Given the description of an element on the screen output the (x, y) to click on. 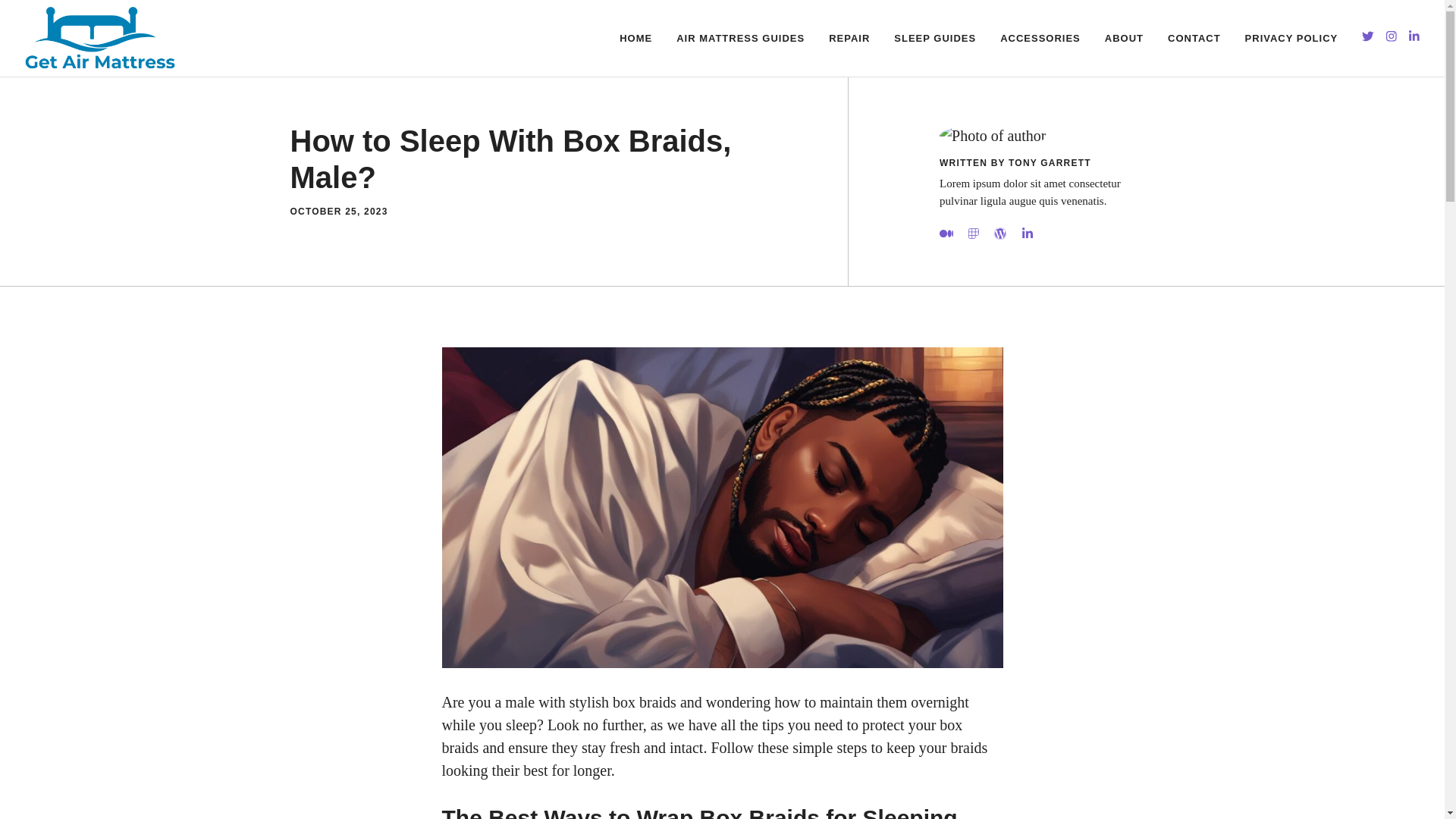
ACCESSORIES (1040, 37)
AIR MATTRESS GUIDES (739, 37)
PRIVACY POLICY (1292, 37)
CONTACT (1194, 37)
REPAIR (849, 37)
HOME (635, 37)
ABOUT (1124, 37)
SLEEP GUIDES (935, 37)
